Given the description of an element on the screen output the (x, y) to click on. 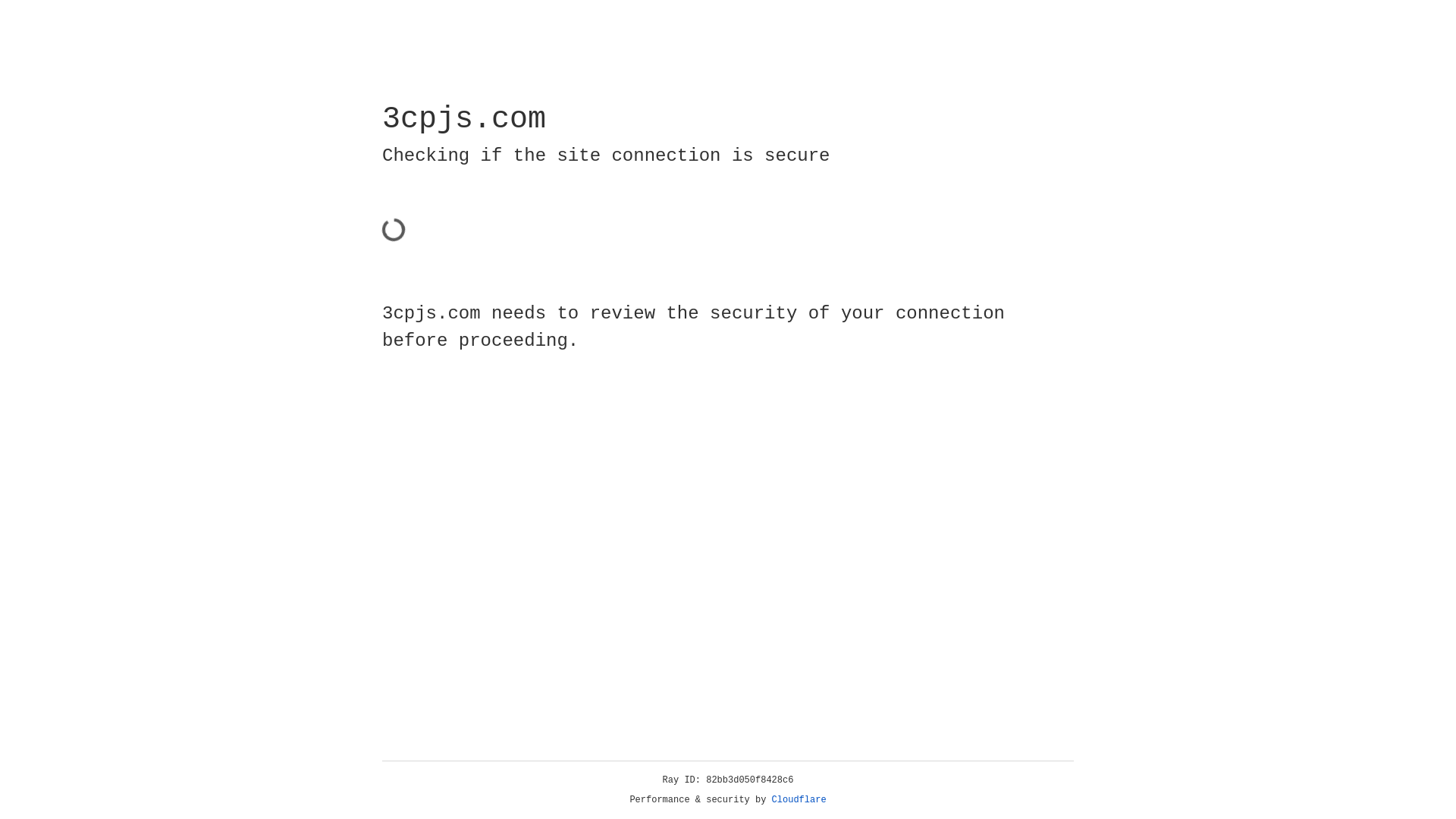
Cloudflare Element type: text (798, 799)
